Given the description of an element on the screen output the (x, y) to click on. 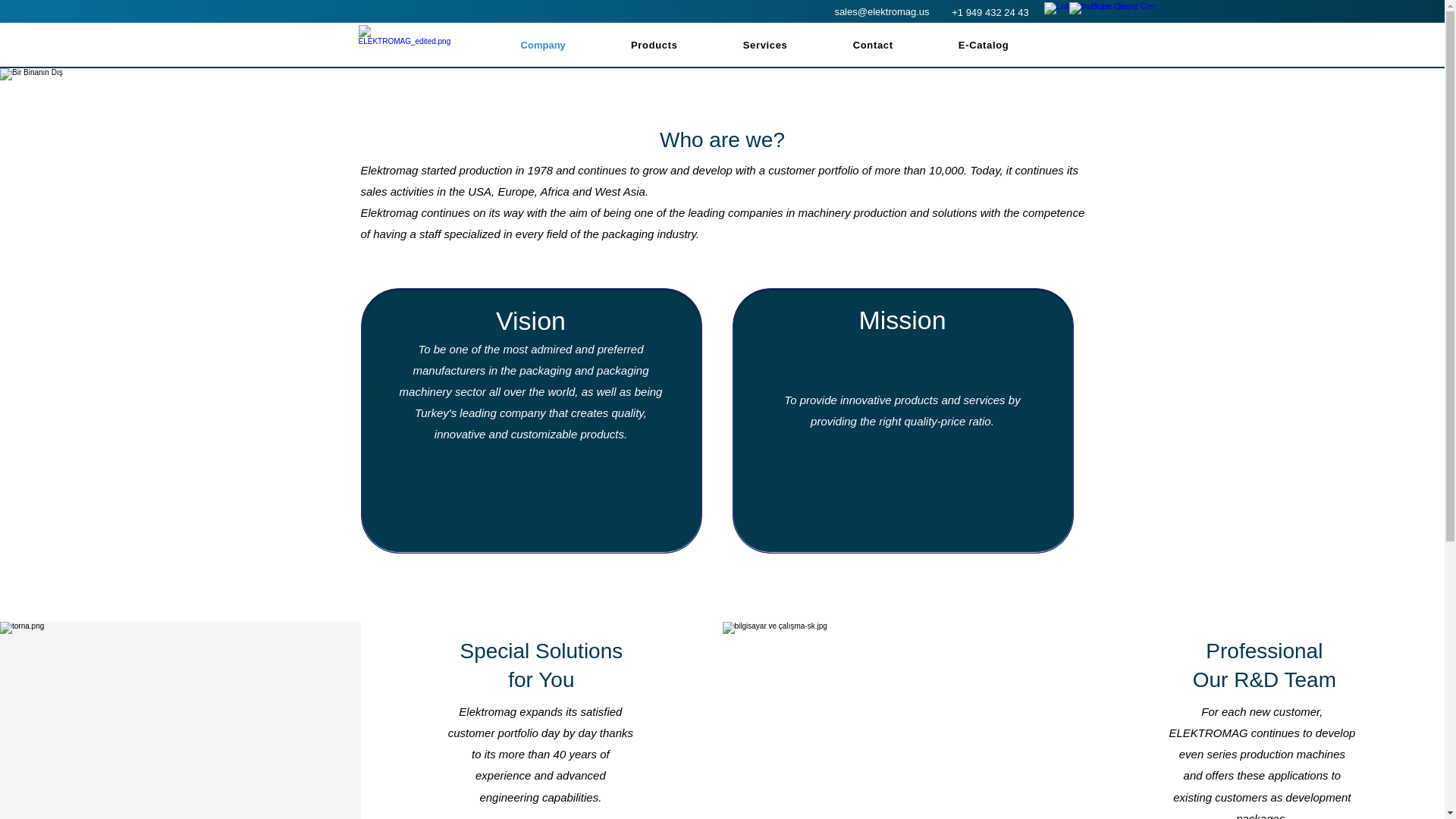
E-Catalog (984, 44)
Services (765, 44)
Contact (872, 44)
Company (543, 44)
Products (764, 44)
